Given the description of an element on the screen output the (x, y) to click on. 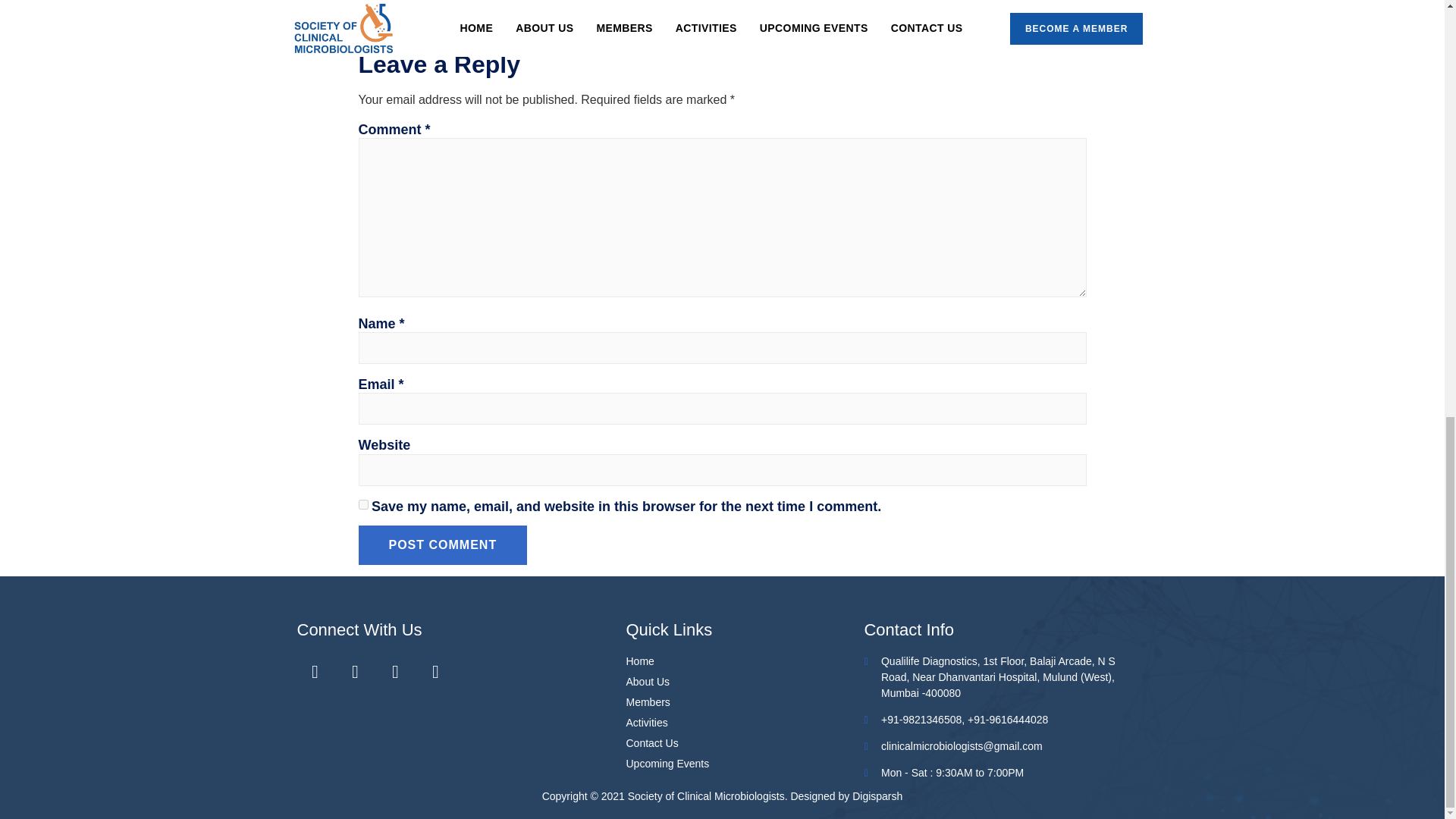
Upcoming Events (744, 763)
Members (744, 702)
yes (363, 504)
Post Comment (442, 545)
About Us (744, 682)
Contact Us (744, 743)
Activities (744, 722)
Home (744, 661)
Post Comment (442, 545)
